Given the description of an element on the screen output the (x, y) to click on. 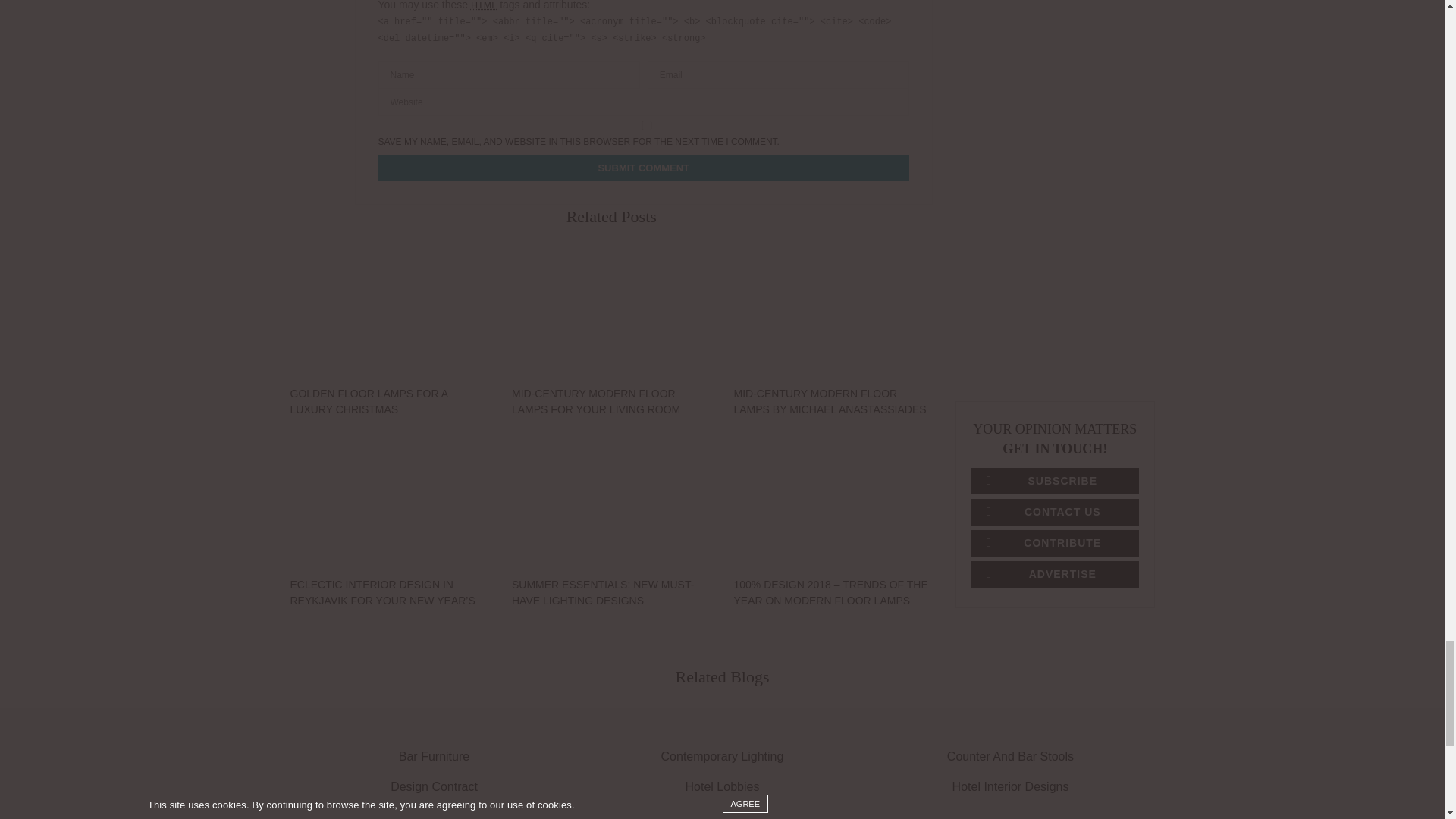
Submit Comment (642, 167)
yes (646, 125)
